Given the description of an element on the screen output the (x, y) to click on. 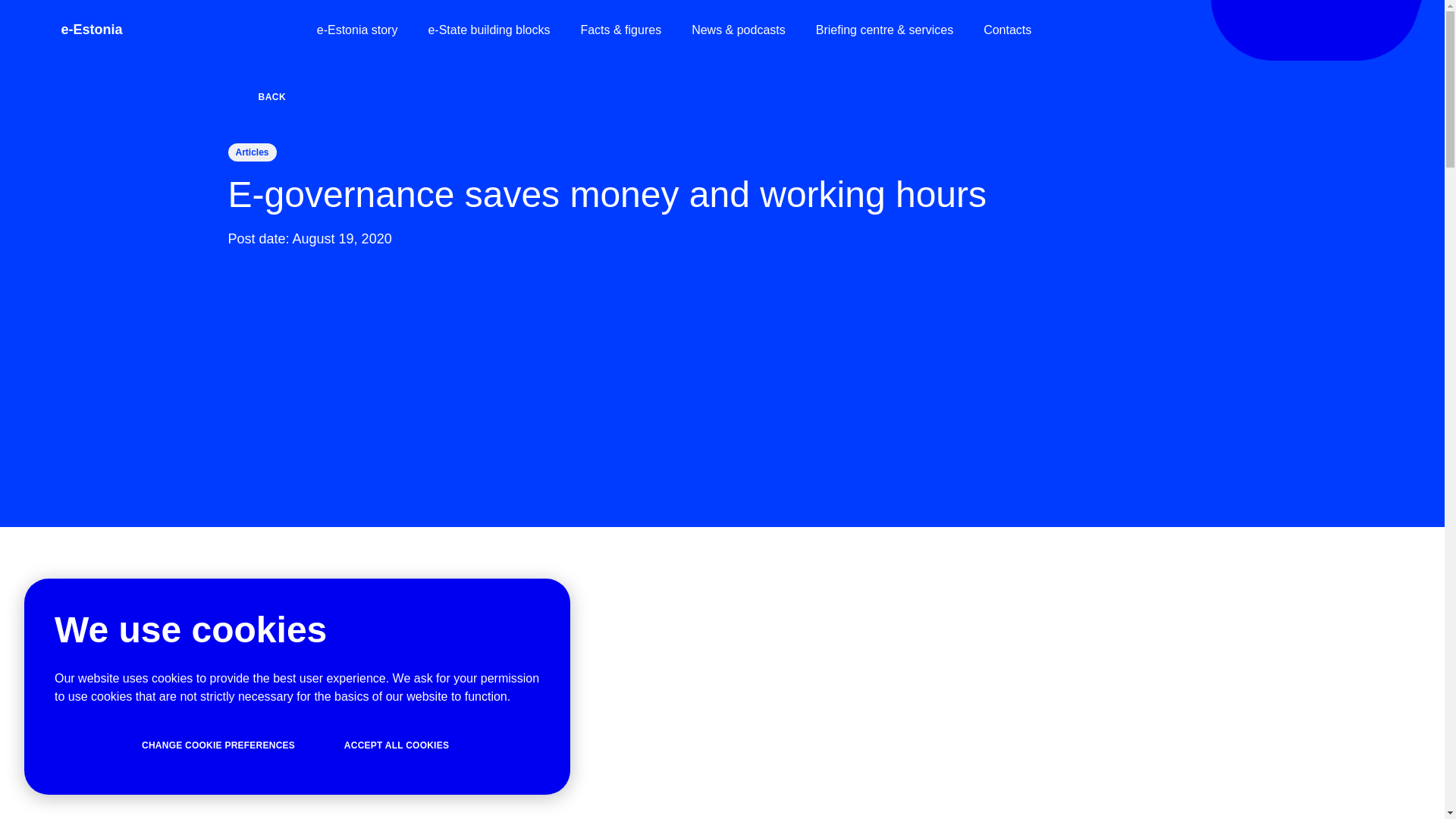
ACCEPT ALL COOKIES (396, 745)
CHANGE COOKIE PREFERENCES (218, 745)
